Given the description of an element on the screen output the (x, y) to click on. 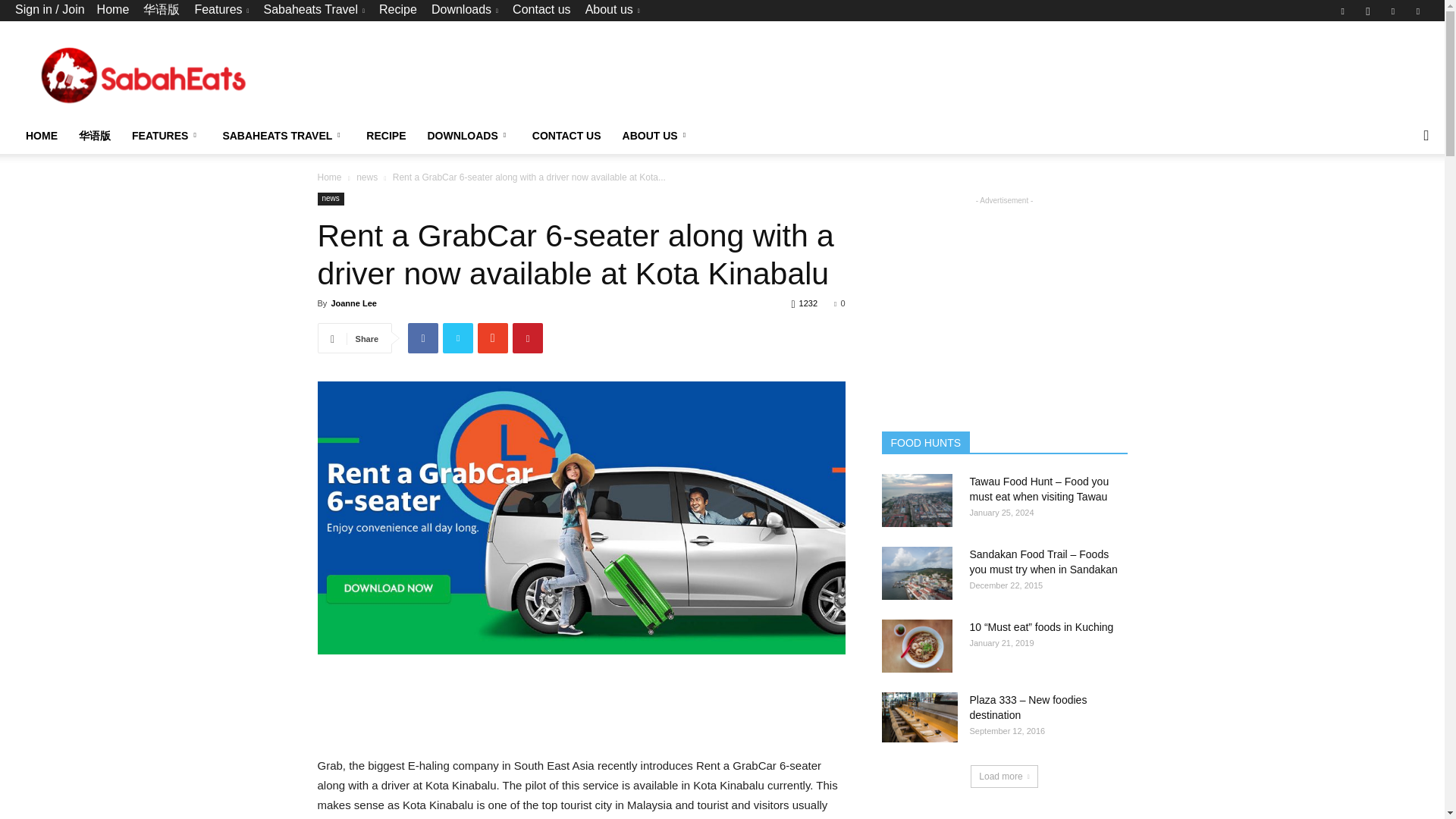
View all posts in news (366, 176)
Advertisement (593, 708)
Facebook (1343, 10)
Instagram (1367, 10)
Home (113, 9)
Advertisement (1153, 76)
Twitter (1393, 10)
Youtube (1417, 10)
